Given the description of an element on the screen output the (x, y) to click on. 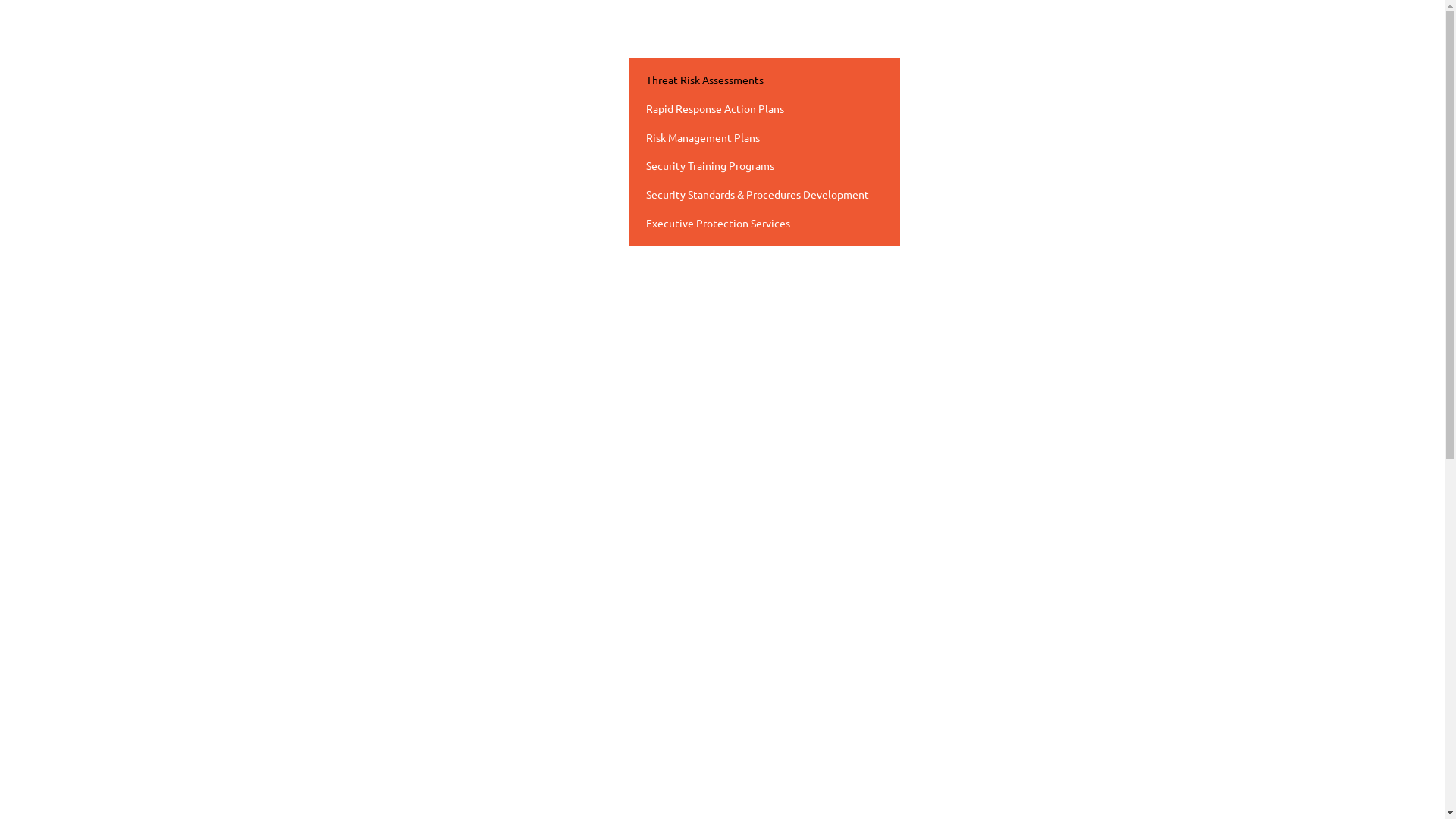
Executive Protection Services Element type: text (764, 223)
Security Training Programs Element type: text (764, 165)
Security Standards & Procedures Development Element type: text (764, 194)
242_White Element type: hover (90, 30)
Rapid Response Action Plans Element type: text (764, 108)
SERVICES Element type: text (671, 38)
Threat Risk Assessments Element type: text (764, 80)
ABOUT US Element type: text (763, 37)
Risk Management Plans Element type: text (764, 137)
CONTACT Element type: text (848, 37)
HOME Element type: text (588, 37)
